Given the description of an element on the screen output the (x, y) to click on. 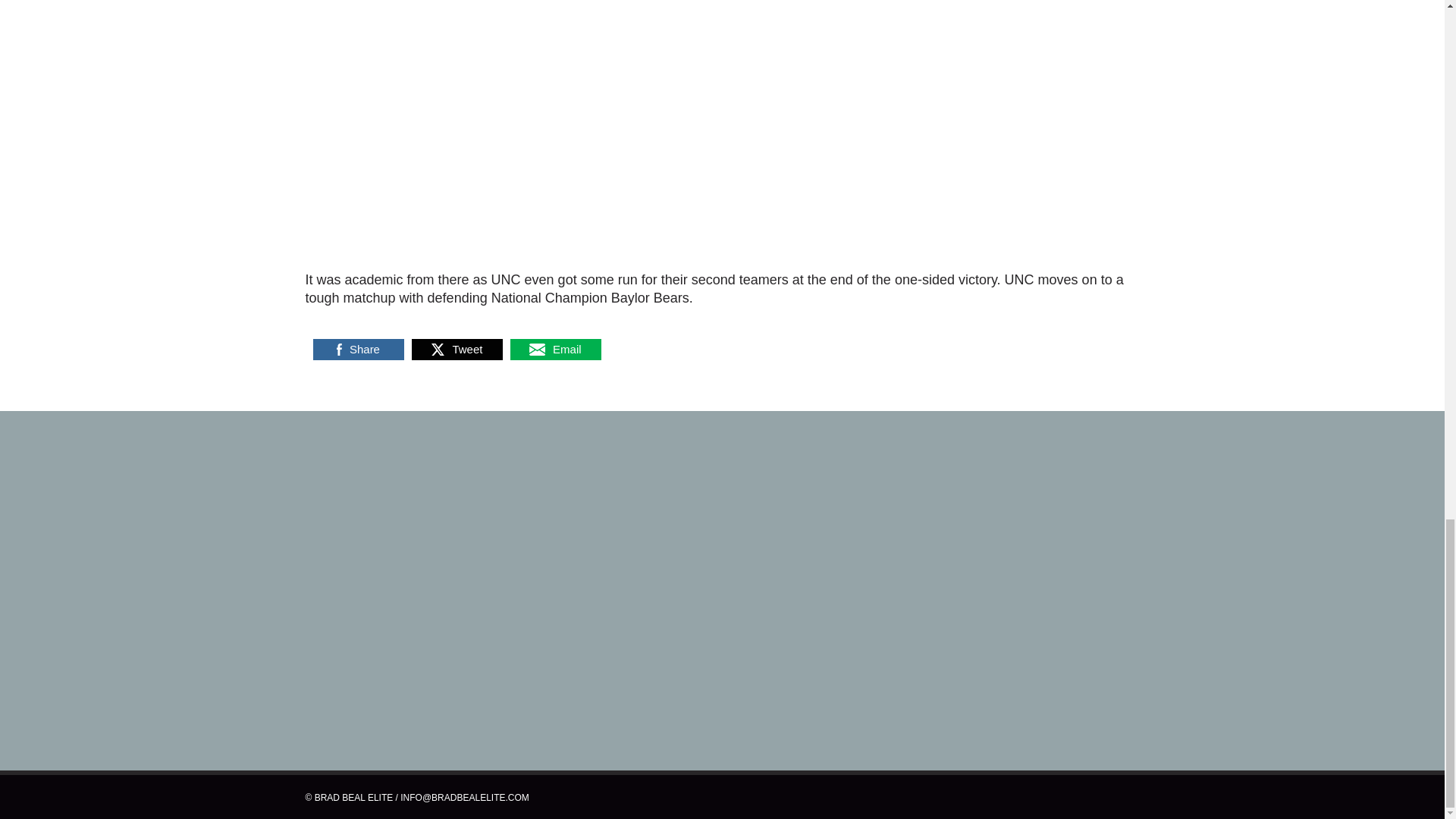
Tweet (456, 349)
Email (554, 349)
Share (358, 349)
